Given the description of an element on the screen output the (x, y) to click on. 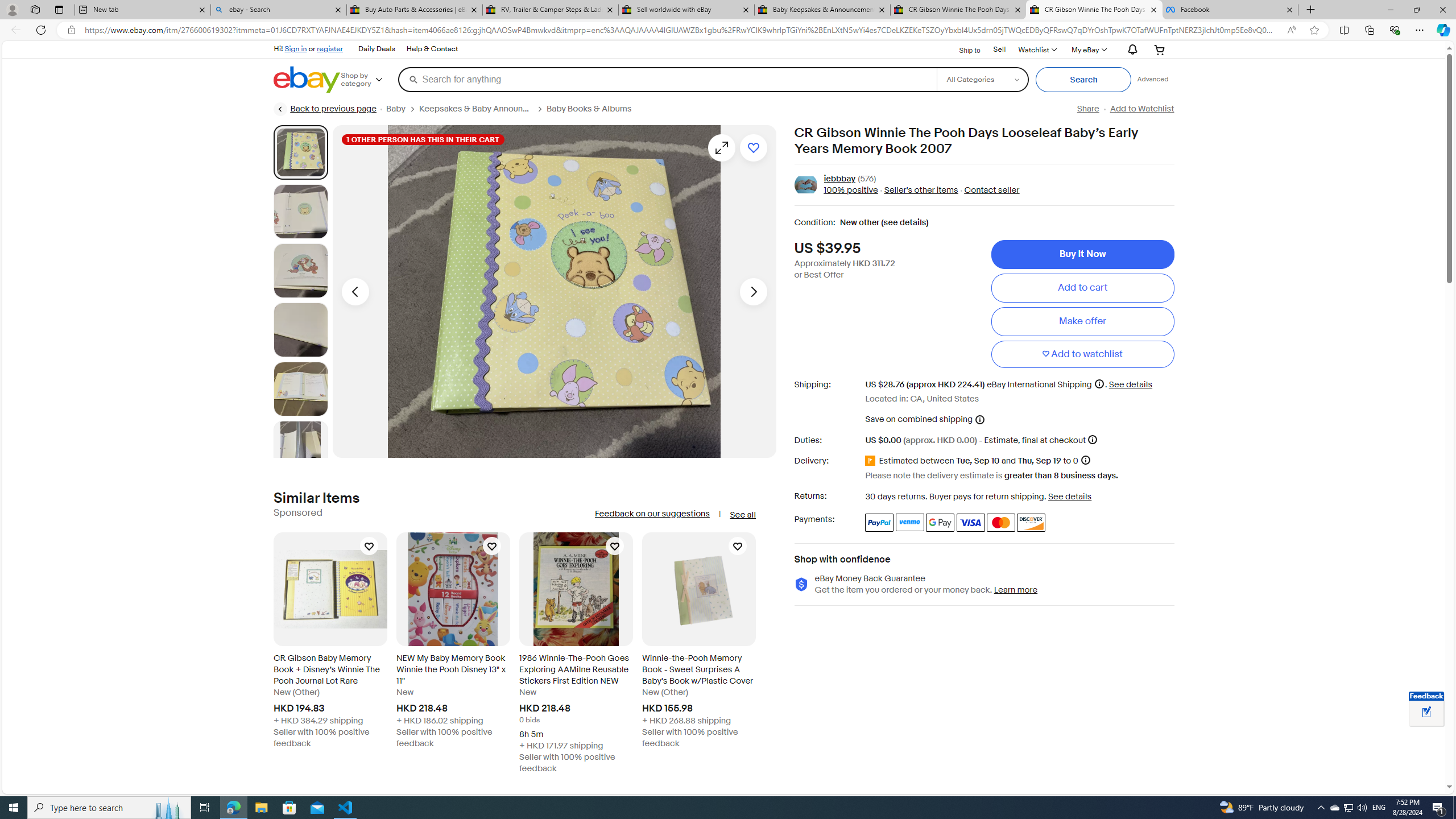
See all (742, 514)
Add to cart (1082, 287)
Picture 4 of 22 (300, 329)
Sell (999, 49)
Add to watchlist (753, 147)
Facebook (1230, 9)
Picture 1 of 22 (300, 152)
100% positive (850, 190)
Baby Books & Albums (593, 108)
Previous image - Item images thumbnails (354, 291)
